Given the description of an element on the screen output the (x, y) to click on. 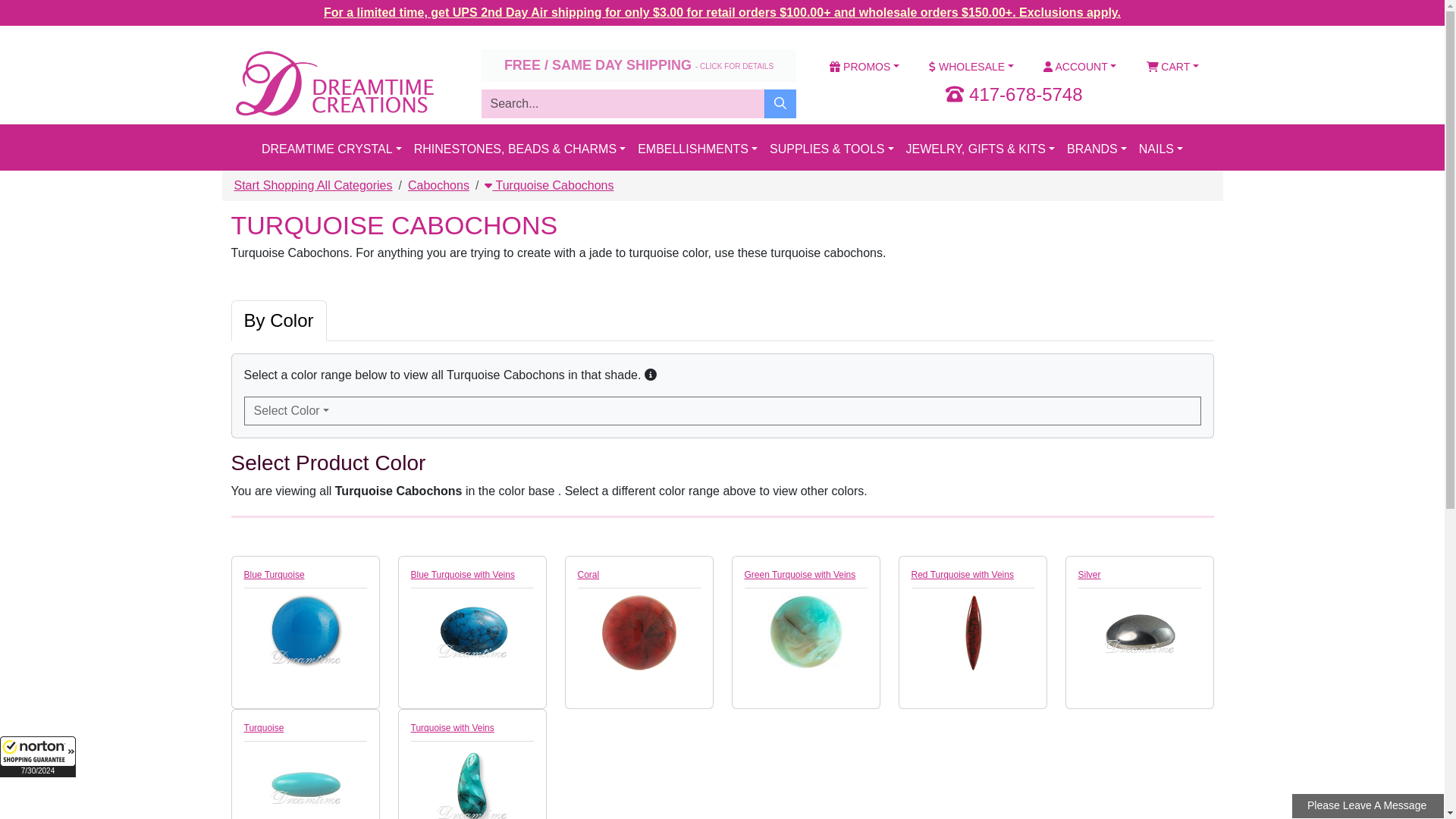
WHOLESALE (971, 66)
CART (1172, 66)
Green Turquoise with Veins (805, 632)
Blue Turquoise with Veins (472, 632)
Unused iFrame 1 (37, 756)
Dreamtime Creations (332, 82)
Coral (639, 632)
ACCOUNT (1079, 66)
PROMOS (863, 66)
Silver (1139, 632)
Blue Turquoise (305, 632)
Red Turquoise with Veins (972, 632)
